Given the description of an element on the screen output the (x, y) to click on. 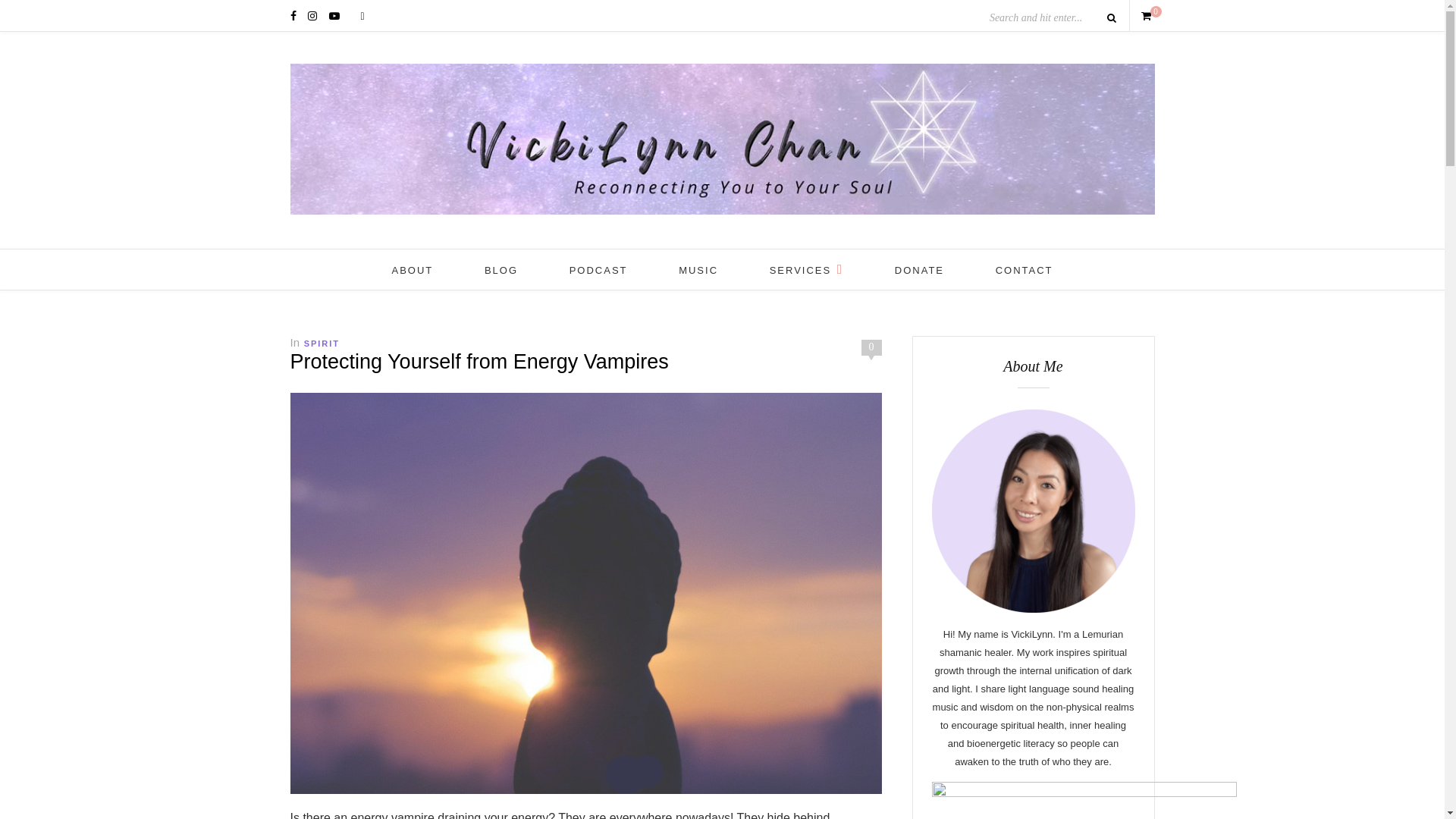
CONTACT (1023, 270)
SERVICES (807, 270)
0 (1147, 15)
DONATE (919, 270)
SPIRIT (321, 343)
MUSIC (697, 270)
ABOUT (411, 270)
PODCAST (598, 270)
View your shopping cart (1147, 15)
